Given the description of an element on the screen output the (x, y) to click on. 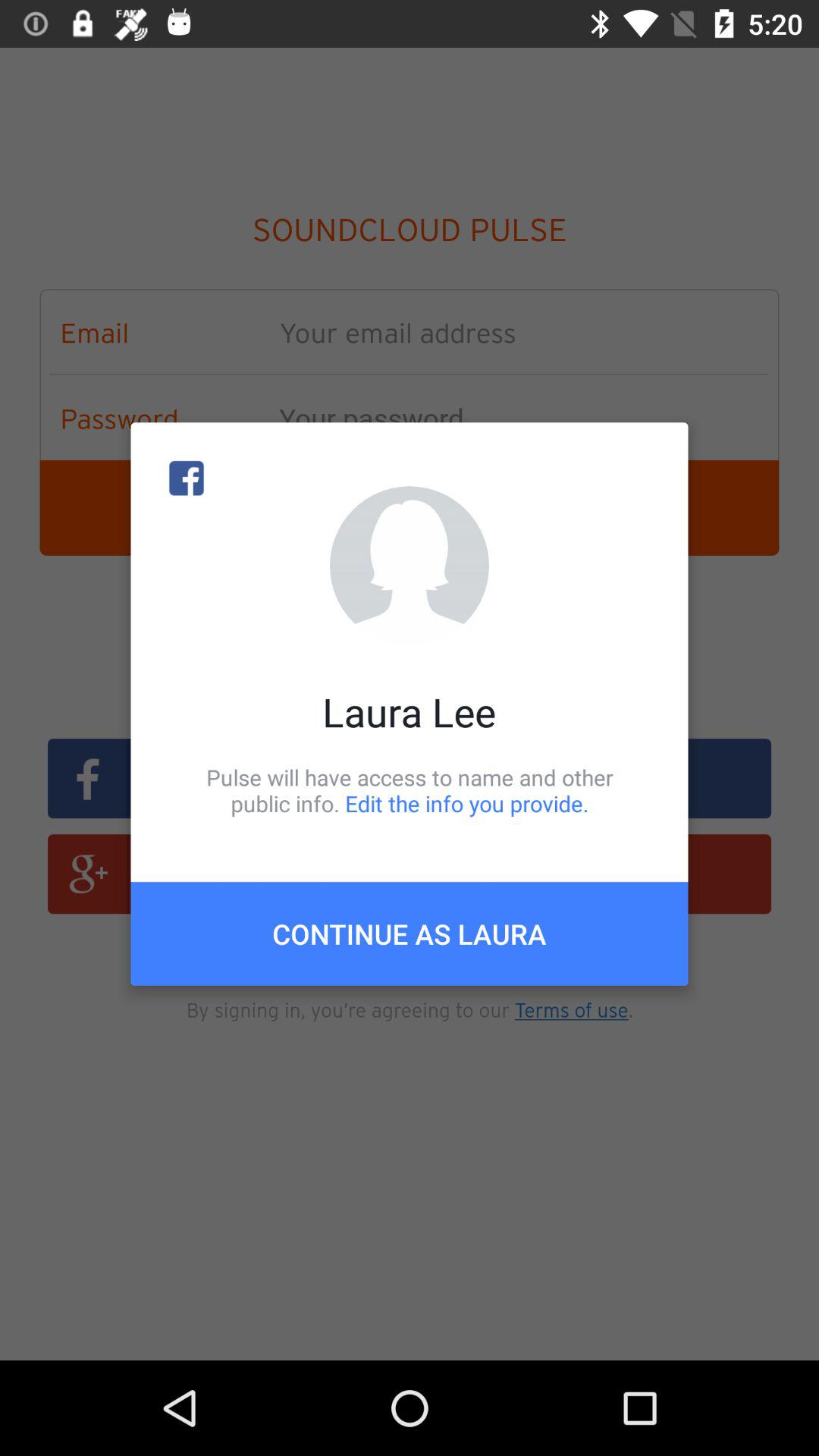
swipe to the continue as laura icon (409, 933)
